Given the description of an element on the screen output the (x, y) to click on. 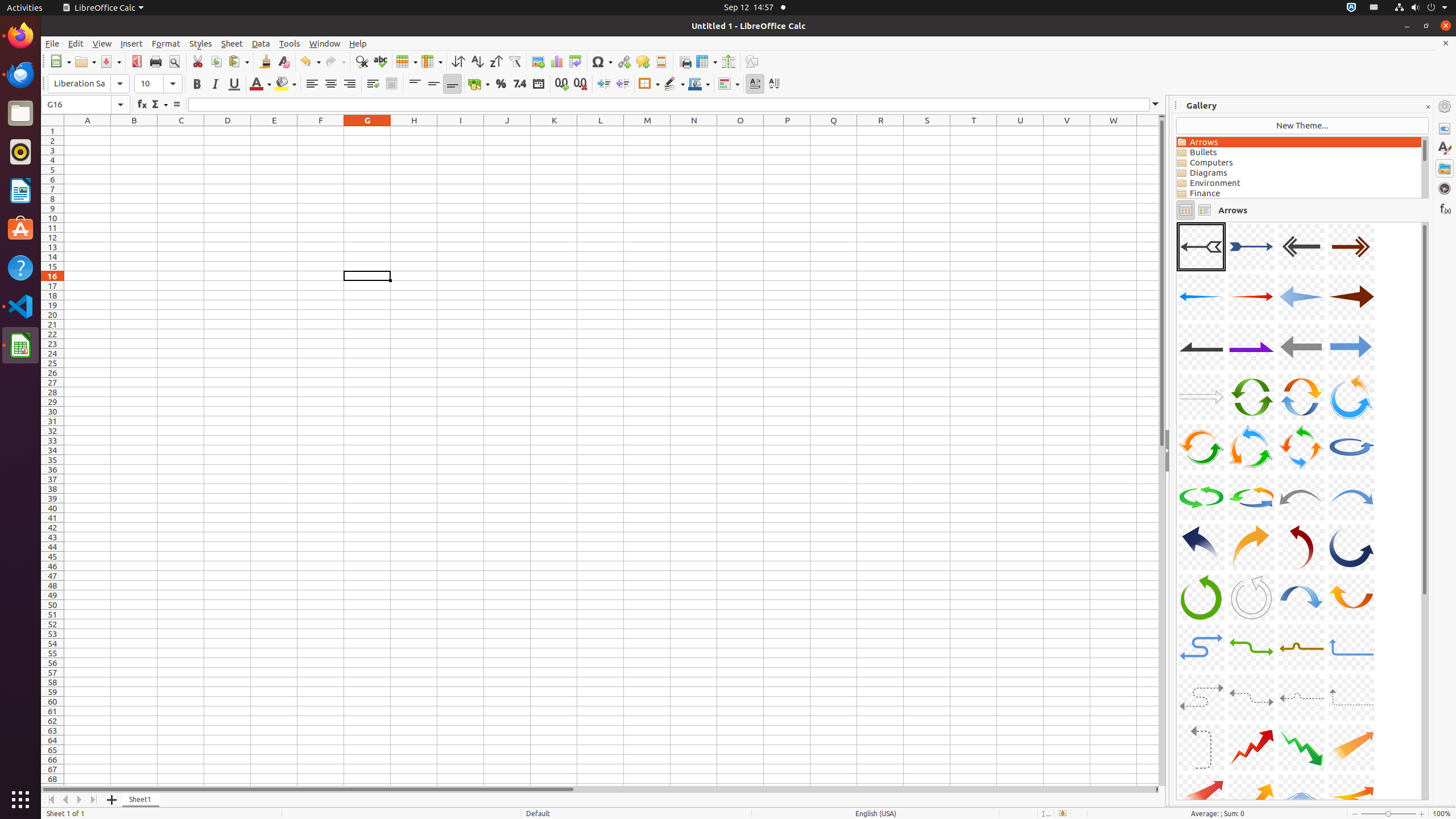
A44-TrendArrow-Orange-GoUp Element type: list-item (1350, 746)
E1 Element type: table-cell (273, 130)
Print Area Element type: push-button (684, 61)
G1 Element type: table-cell (367, 130)
Underline Element type: push-button (233, 83)
